Given the description of an element on the screen output the (x, y) to click on. 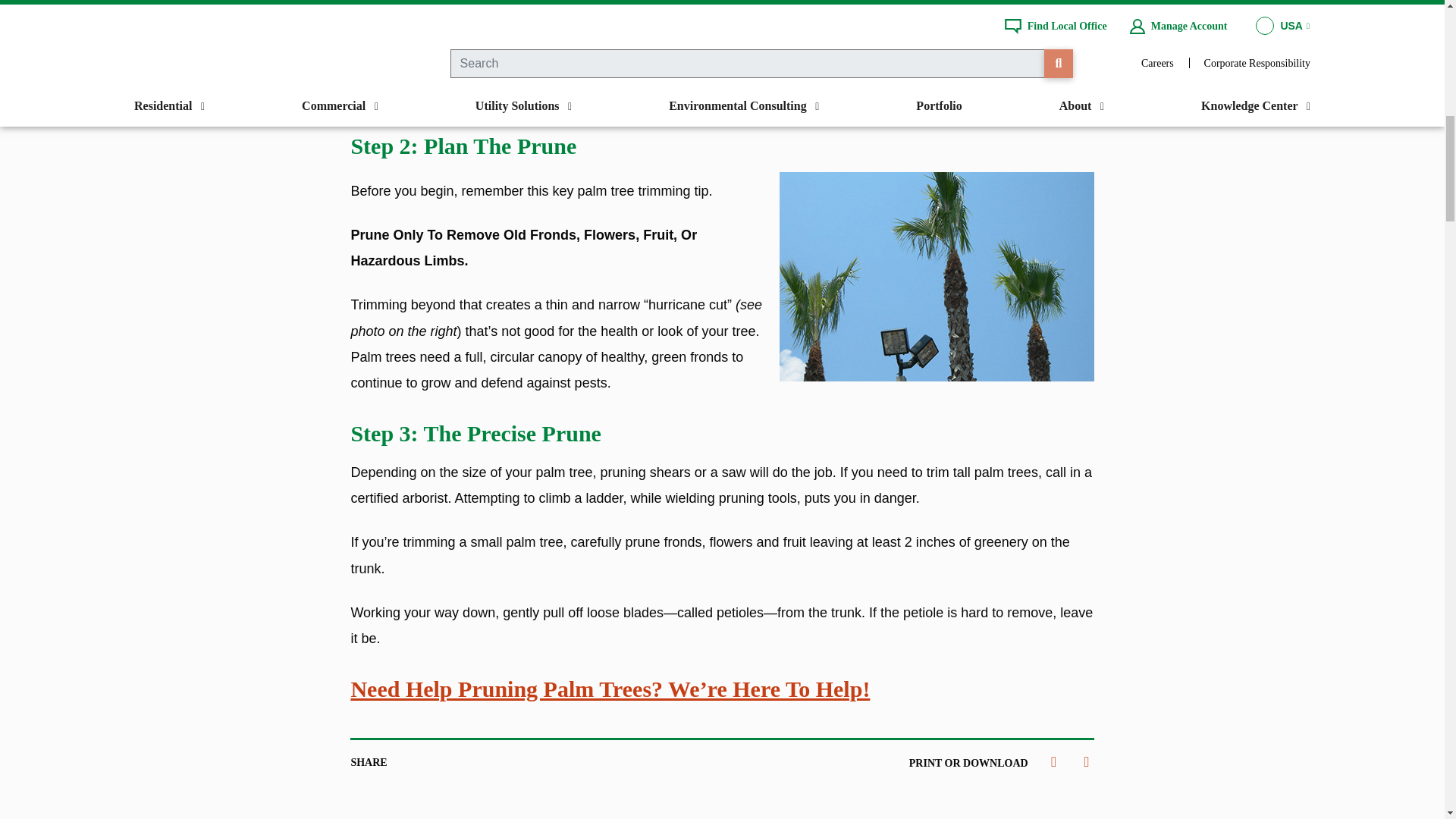
Opens in a new window (437, 761)
Contact Us (609, 688)
Opens in a new window (405, 761)
Opens in a new window (471, 761)
